Given the description of an element on the screen output the (x, y) to click on. 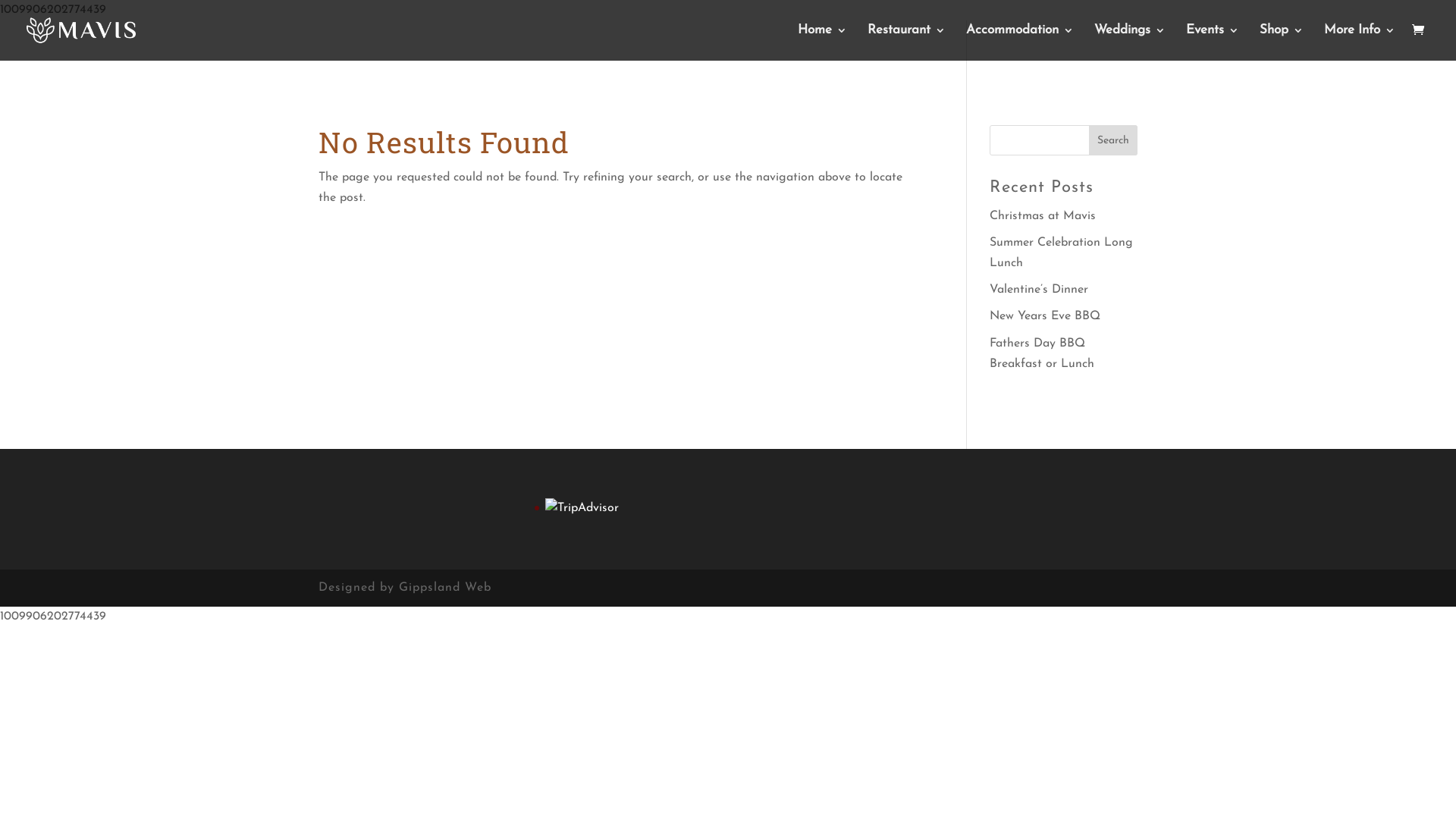
Accommodation Element type: text (1019, 42)
Search Element type: text (1112, 140)
Shop Element type: text (1281, 42)
Christmas at Mavis Element type: text (1042, 216)
Home Element type: text (822, 42)
Fathers Day BBQ Breakfast or Lunch Element type: text (1041, 353)
Weddings Element type: text (1129, 42)
Restaurant Element type: text (906, 42)
Summer Celebration Long Lunch Element type: text (1060, 252)
Designed by Gippsland Web Element type: text (404, 587)
New Years Eve BBQ Element type: text (1044, 316)
Events Element type: text (1212, 42)
More Info Element type: text (1359, 42)
